Given the description of an element on the screen output the (x, y) to click on. 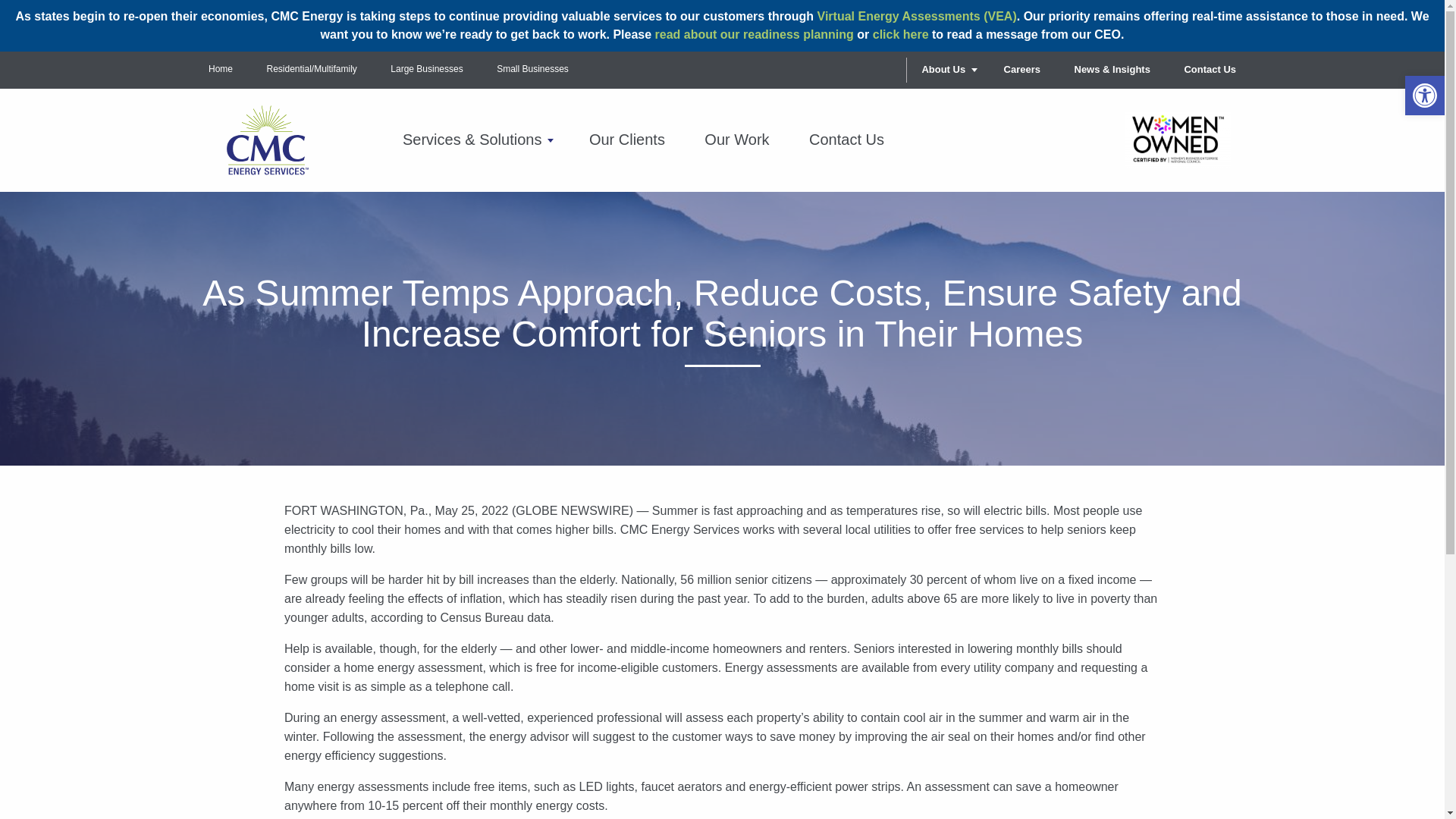
Accessibility Tools (1424, 95)
read about our readiness planning (754, 33)
Our Clients (626, 140)
Contact Us (1209, 69)
About Us (945, 69)
click here (900, 33)
Home (220, 68)
Large Businesses (426, 68)
Careers (1021, 69)
Small Businesses (532, 68)
